Given the description of an element on the screen output the (x, y) to click on. 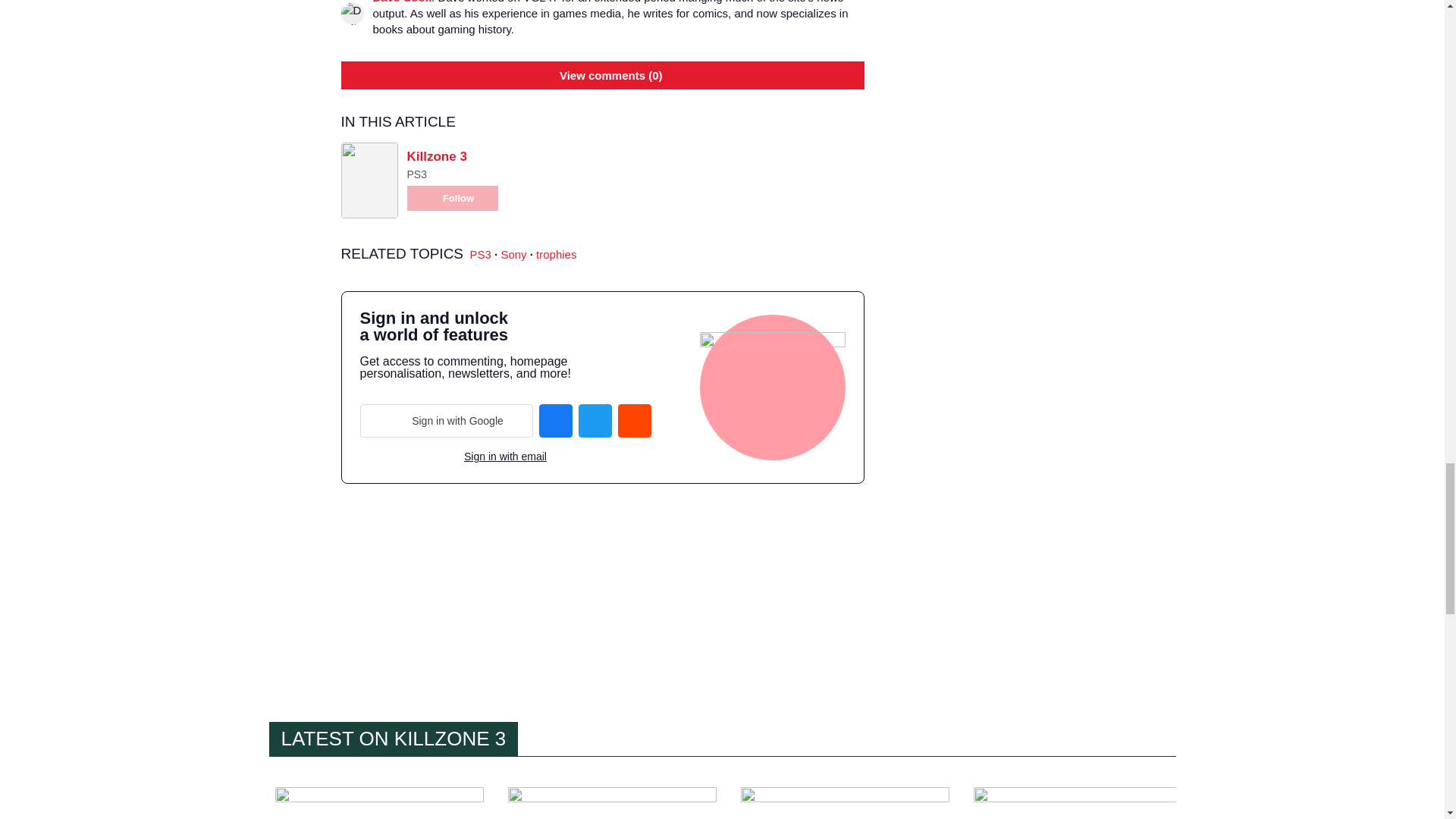
Killzone 3 (435, 156)
Follow (451, 197)
PS3 (481, 254)
Dave Cook (402, 2)
